Given the description of an element on the screen output the (x, y) to click on. 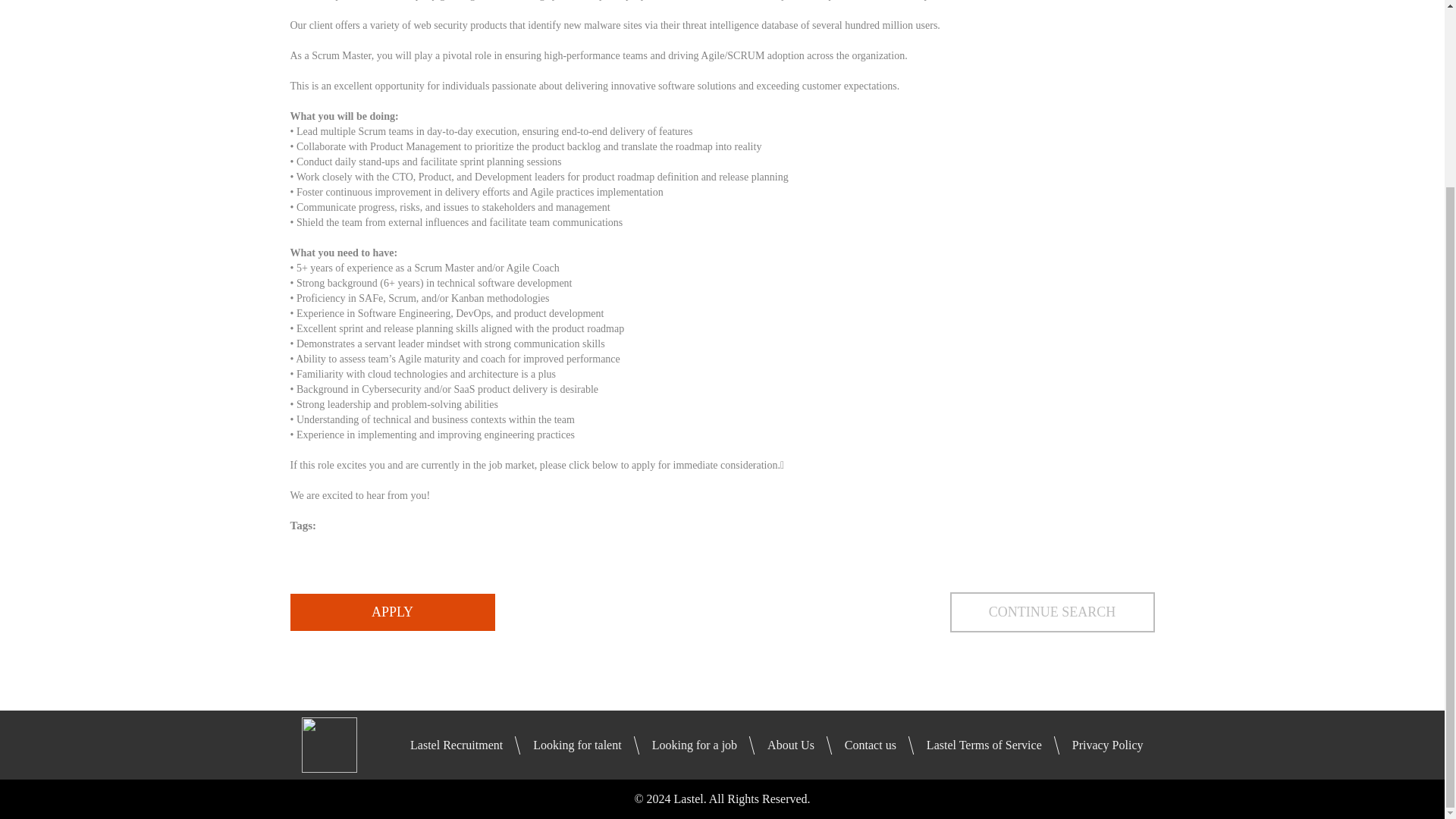
Looking for a job (694, 744)
APPLY (392, 611)
Lastel Terms of Service (984, 744)
About Us (790, 744)
Contact us (870, 744)
Looking for talent (576, 744)
Privacy Policy (1106, 744)
Lastel Recruitment (456, 744)
CONTINUE SEARCH (1051, 612)
